Given the description of an element on the screen output the (x, y) to click on. 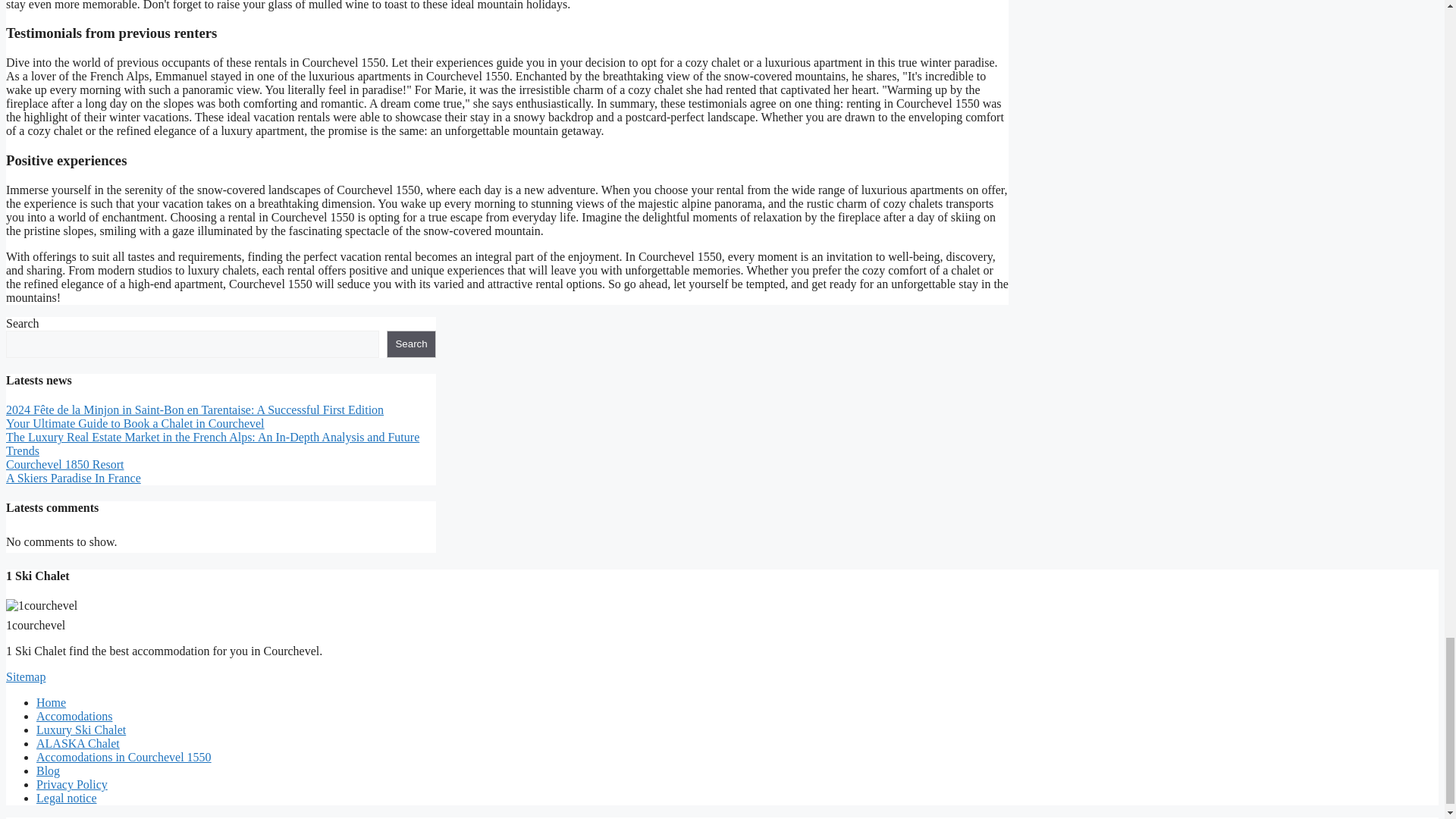
Blog (47, 770)
A Skiers Paradise In France (73, 477)
Legal notice (66, 797)
ALASKA Chalet (77, 743)
Courchevel 1850 Resort (64, 463)
Home (50, 702)
Accomodations (74, 716)
Search (411, 343)
Your Ultimate Guide to Book a Chalet in Courchevel (134, 422)
Luxury Ski Chalet (80, 729)
Sitemap (25, 676)
Accomodations in Courchevel 1550 (123, 757)
Privacy Policy (71, 784)
